Given the description of an element on the screen output the (x, y) to click on. 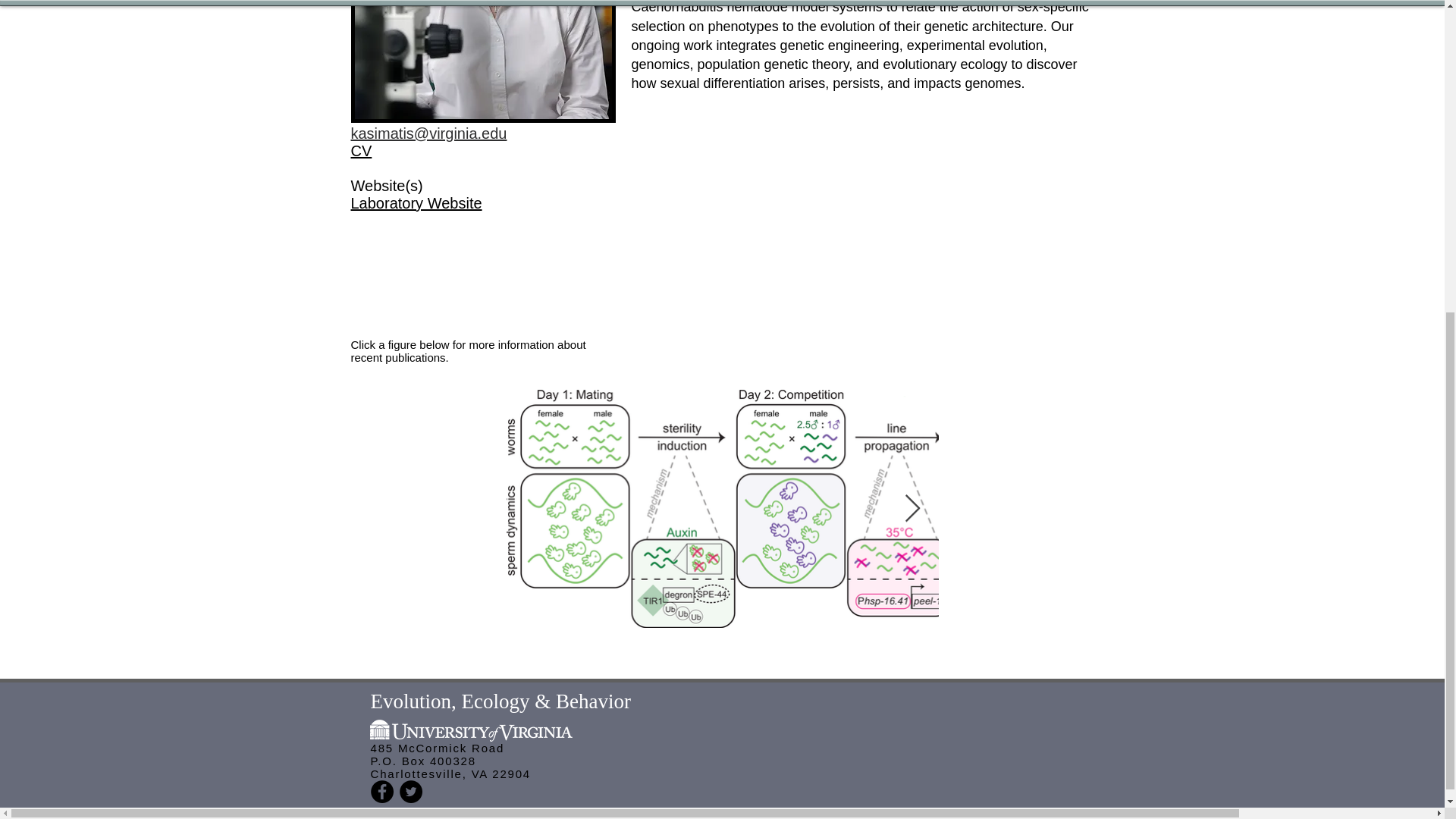
Evolution,  (415, 701)
CV (360, 150)
Laboratory Website (415, 202)
Behavior (593, 701)
